Given the description of an element on the screen output the (x, y) to click on. 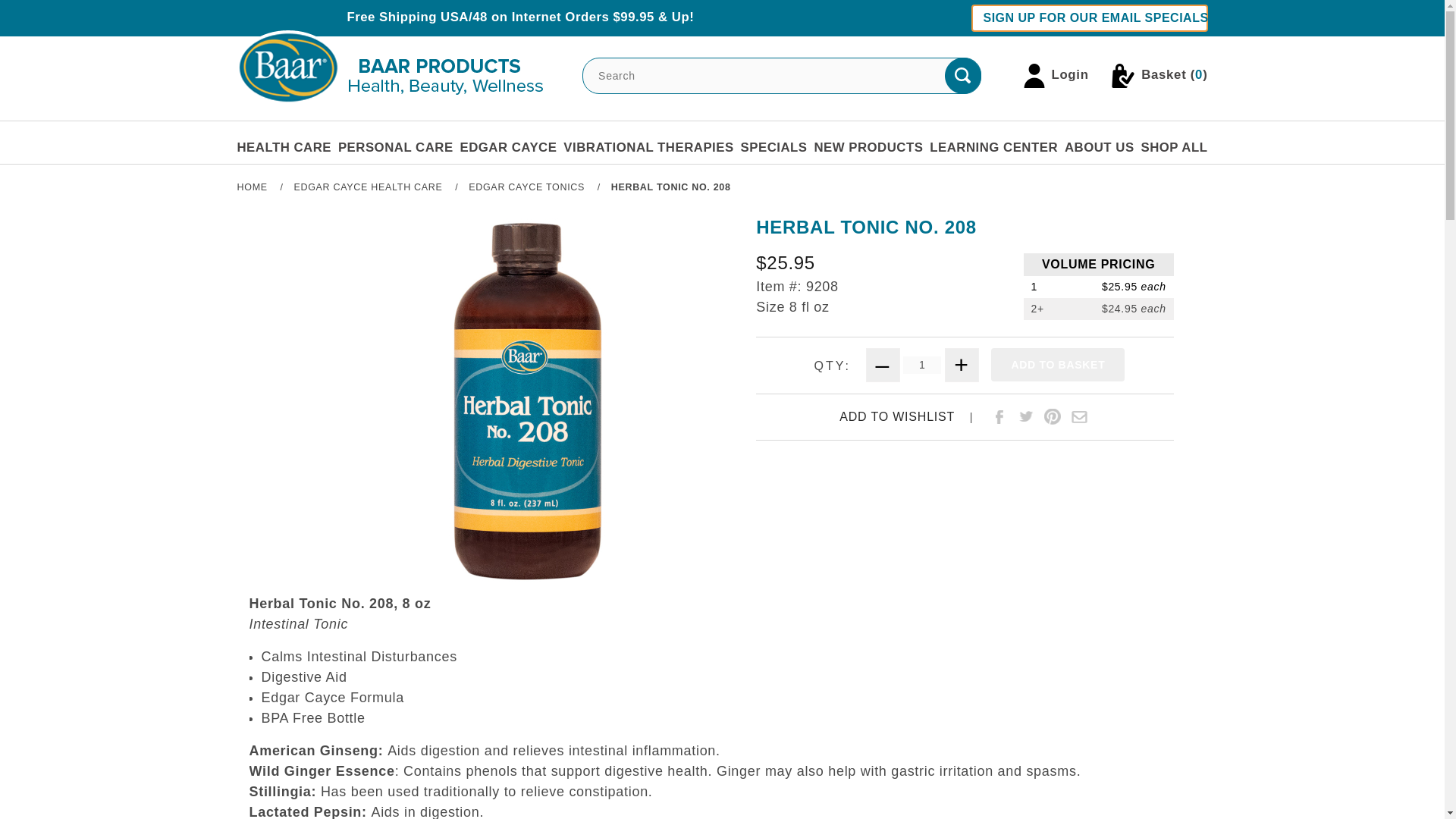
NEW PRODUCTS (868, 147)
Herbal Tonic  No. 208 (670, 187)
Home (252, 187)
SPECIALS (774, 147)
Edgar Cayce Tonics (527, 187)
PERSONAL CARE (394, 147)
Edgar Cayce Health Care (369, 187)
VIBRATIONAL THERAPIES (648, 147)
ABOUT US (1099, 147)
Add To Basket (1057, 364)
HEALTH CARE (283, 147)
SHOP ALL (1173, 147)
LEARNING CENTER (994, 147)
Login (1056, 75)
SIGN UP FOR OUR EMAIL SPECIALS (1089, 17)
